Given the description of an element on the screen output the (x, y) to click on. 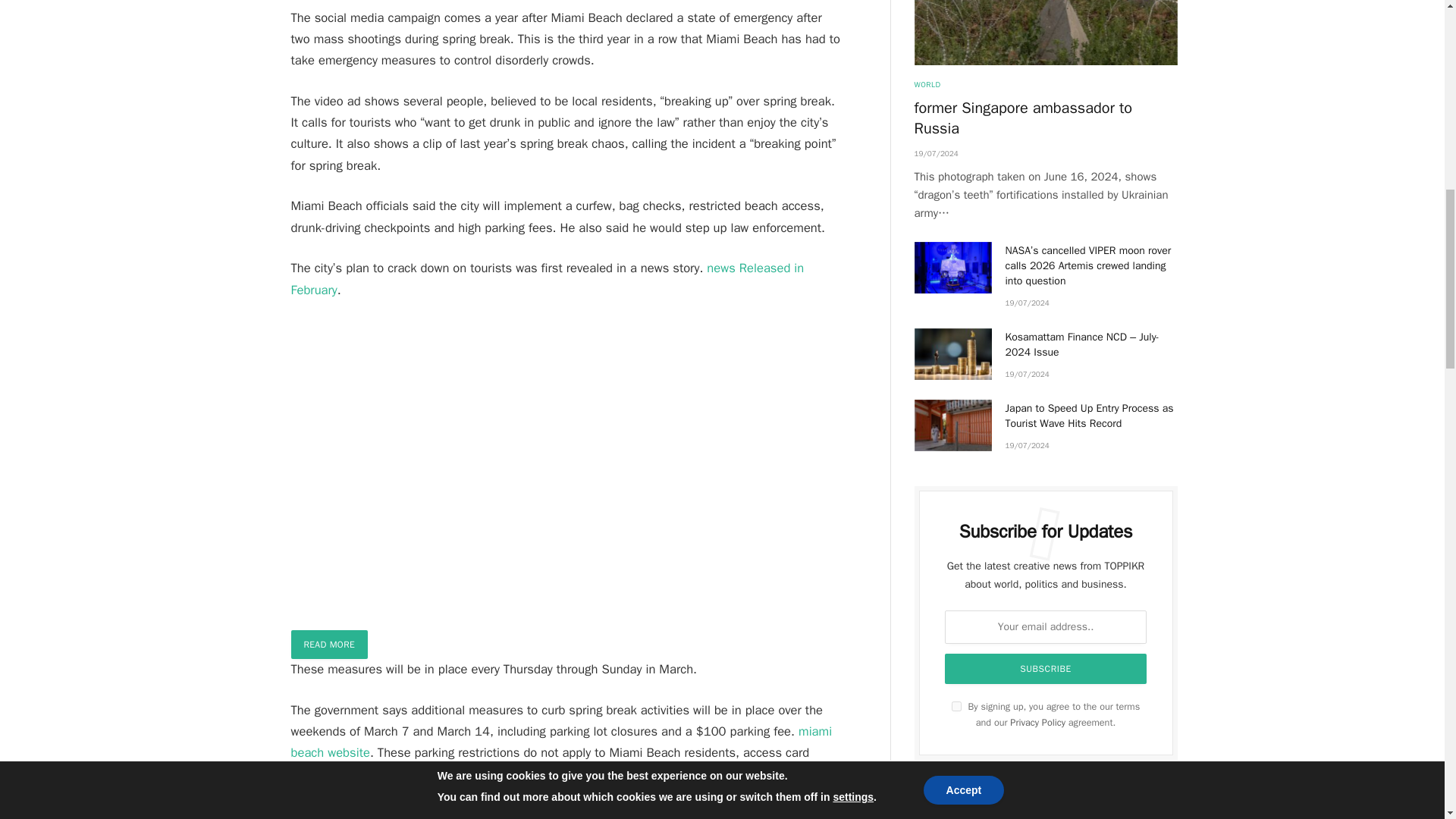
on (956, 706)
Subscribe (1045, 668)
